Given the description of an element on the screen output the (x, y) to click on. 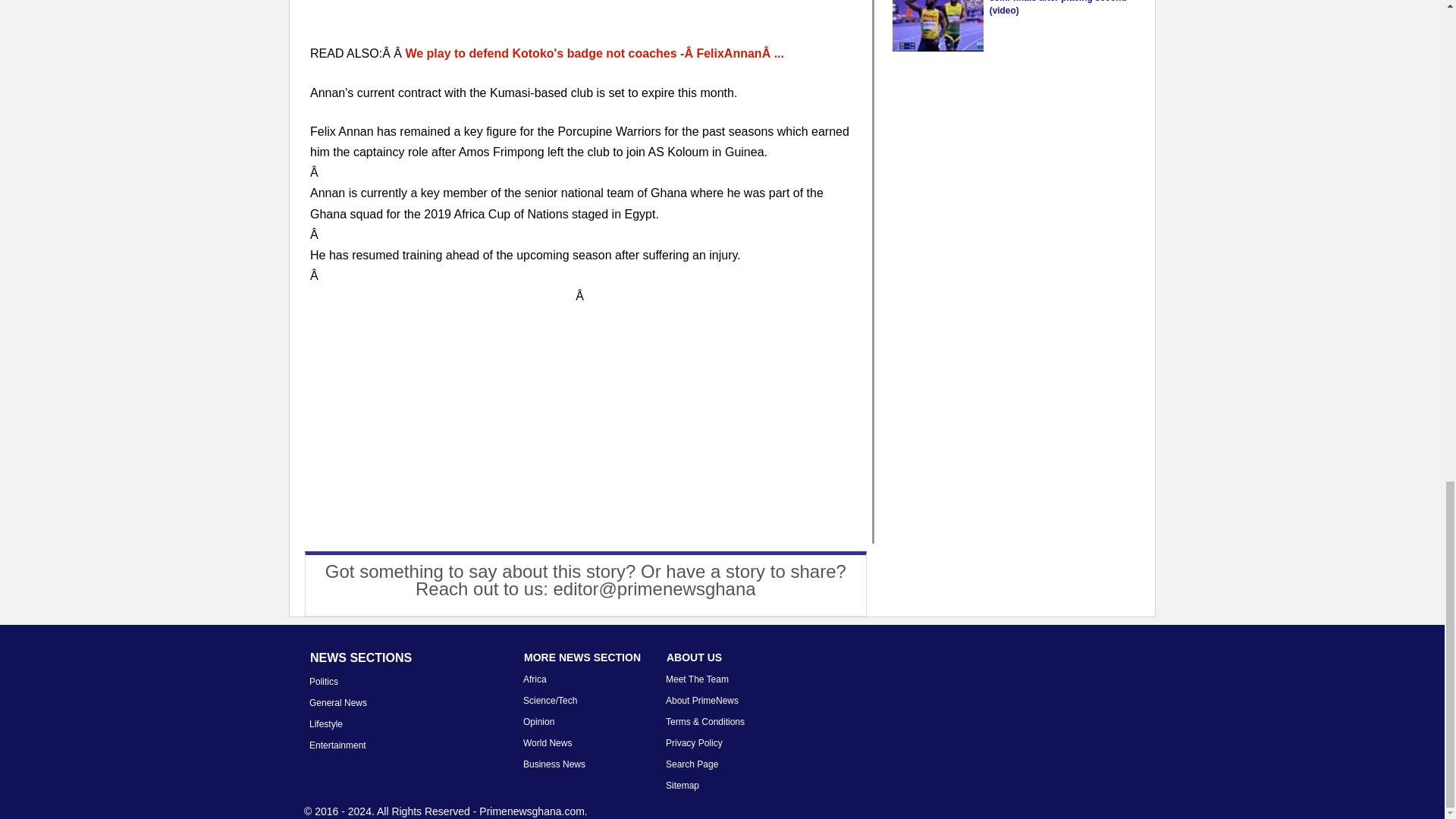
Advertisement (581, 21)
Advertisement (581, 430)
Politics (322, 681)
